Given the description of an element on the screen output the (x, y) to click on. 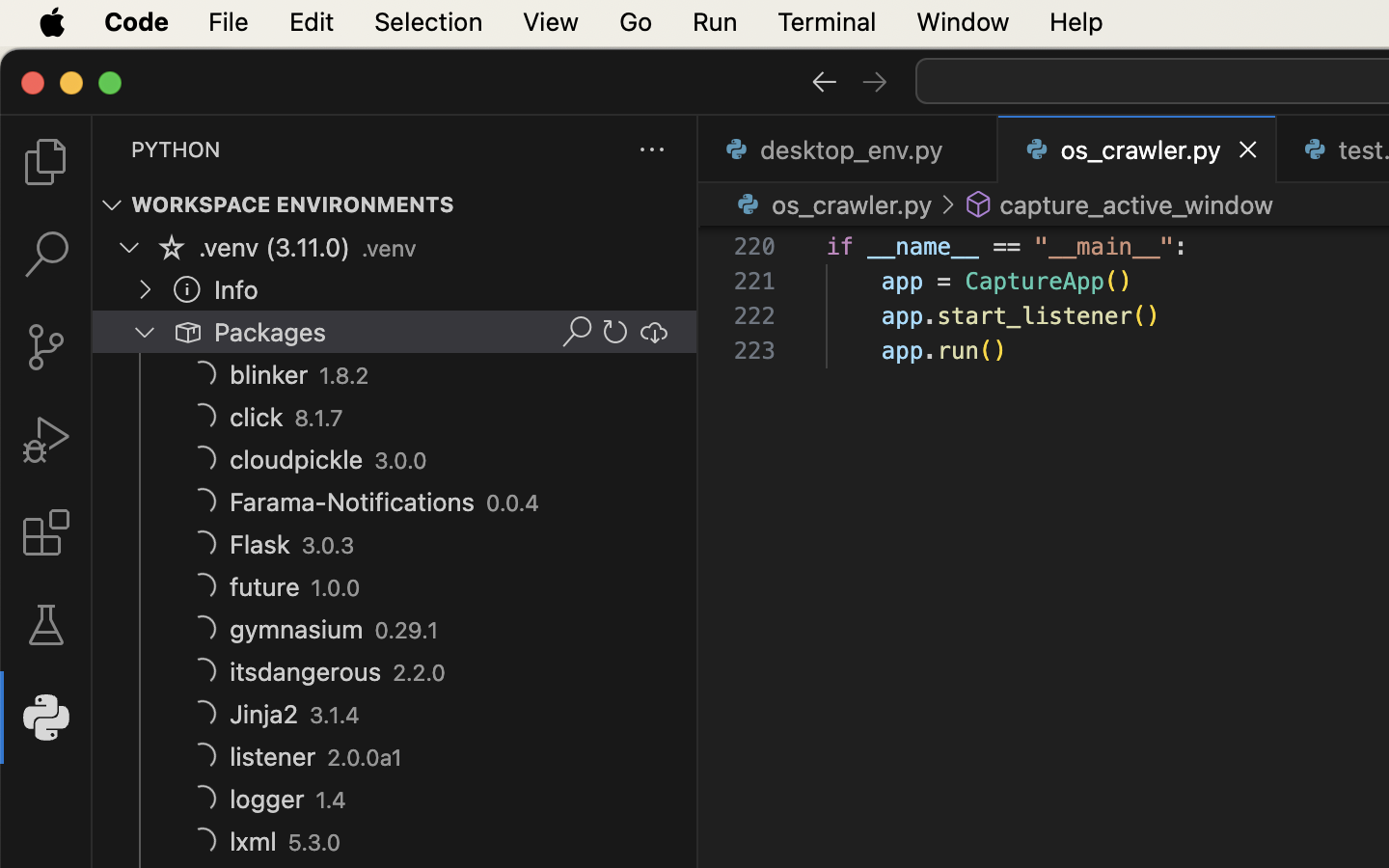
0.0.4 Element type: AXStaticText (513, 502)
5.3.0 Element type: AXStaticText (314, 842)
 Element type: AXStaticText (186, 331)
 Element type: AXButton (615, 331)
3.0.3 Element type: AXStaticText (327, 545)
